Given the description of an element on the screen output the (x, y) to click on. 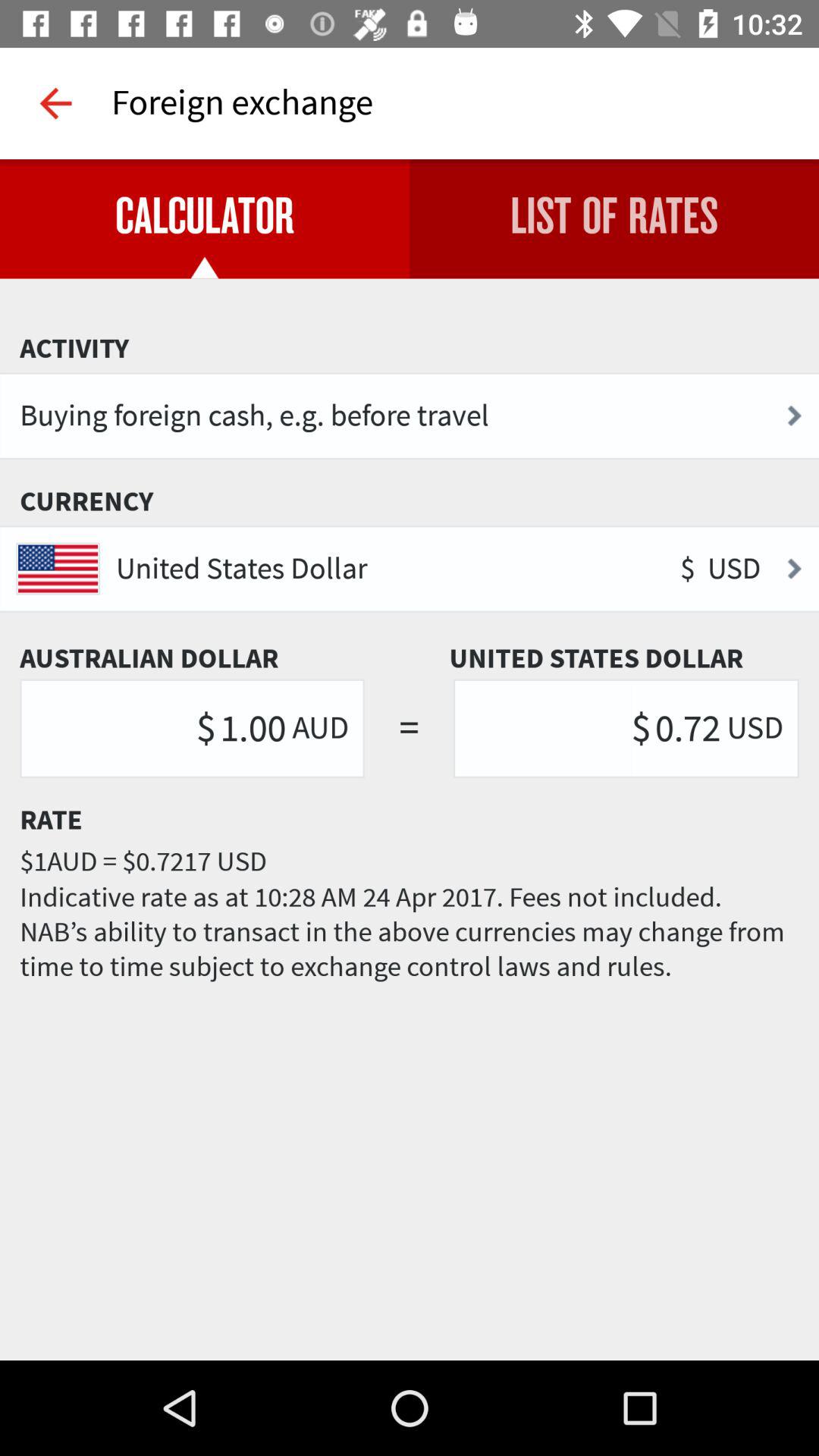
select the buying foreign cash icon (409, 415)
